Given the description of an element on the screen output the (x, y) to click on. 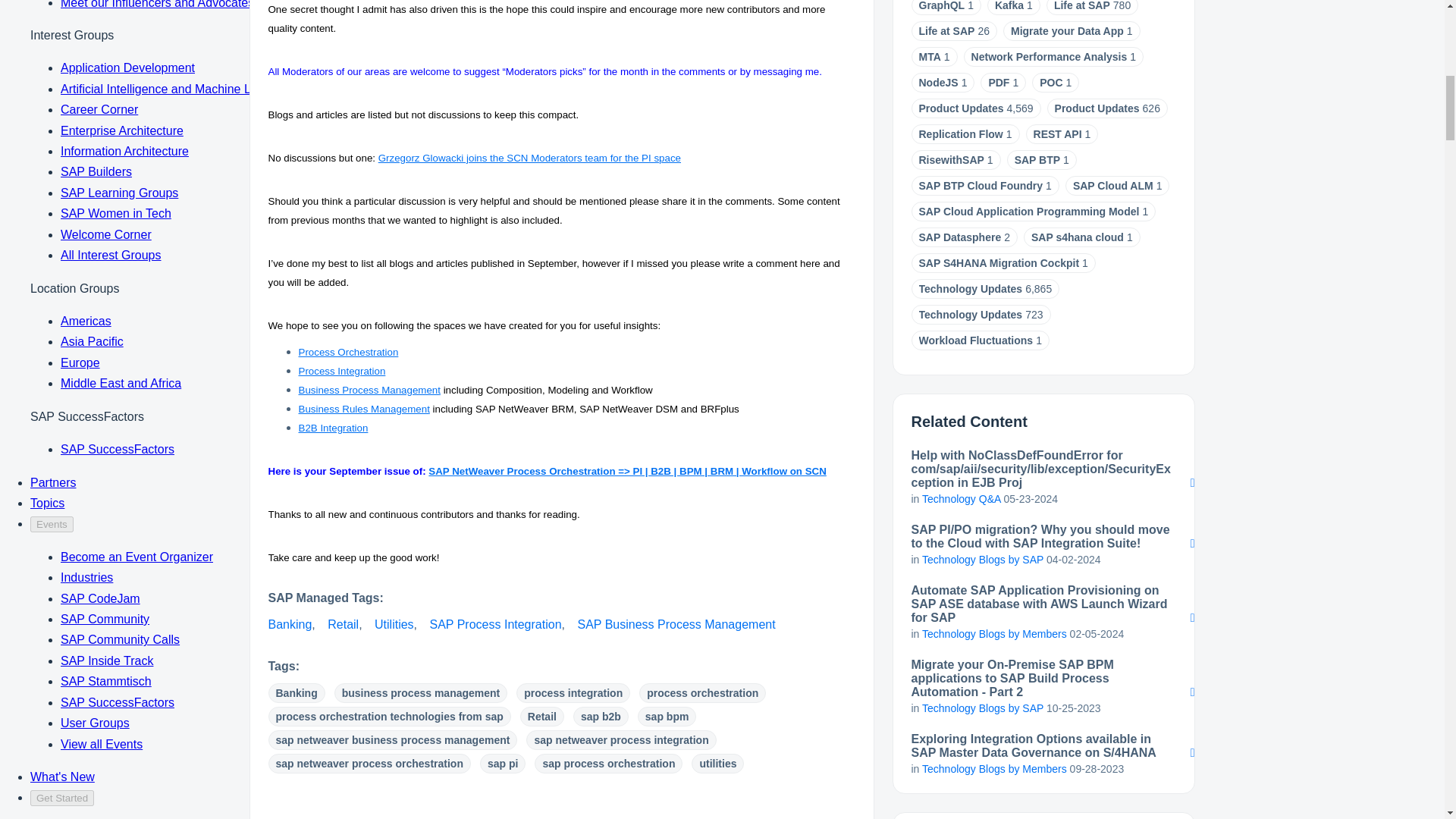
Banking (290, 624)
B2B Integration (333, 428)
Business Rules Management (363, 408)
Business Process Management (369, 389)
business process management (421, 692)
SAP Process Integration (495, 624)
SAP Business Process Management (675, 624)
Process Orchestration (348, 351)
Retail (342, 624)
